Given the description of an element on the screen output the (x, y) to click on. 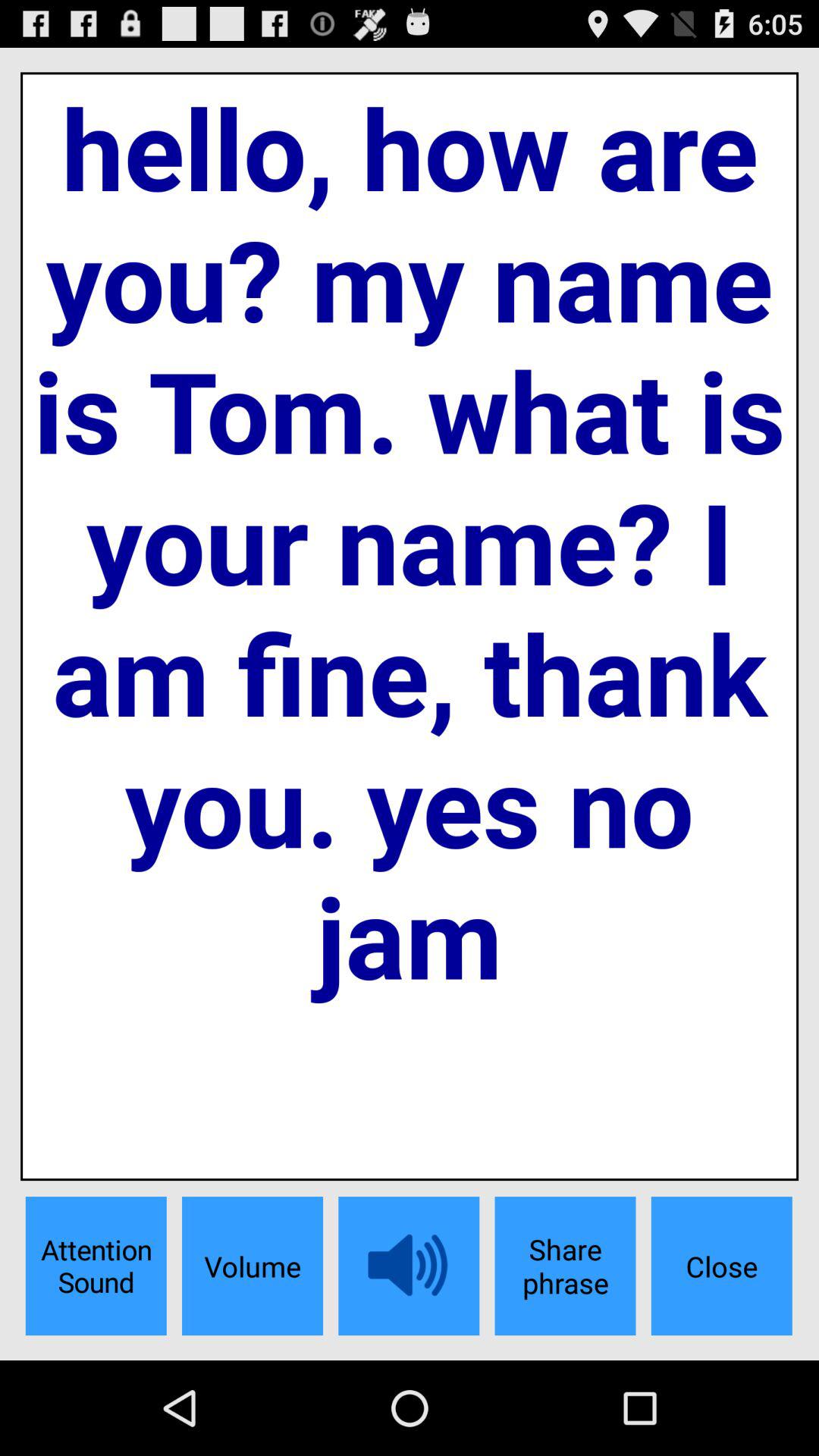
select item below hello how are (95, 1265)
